Given the description of an element on the screen output the (x, y) to click on. 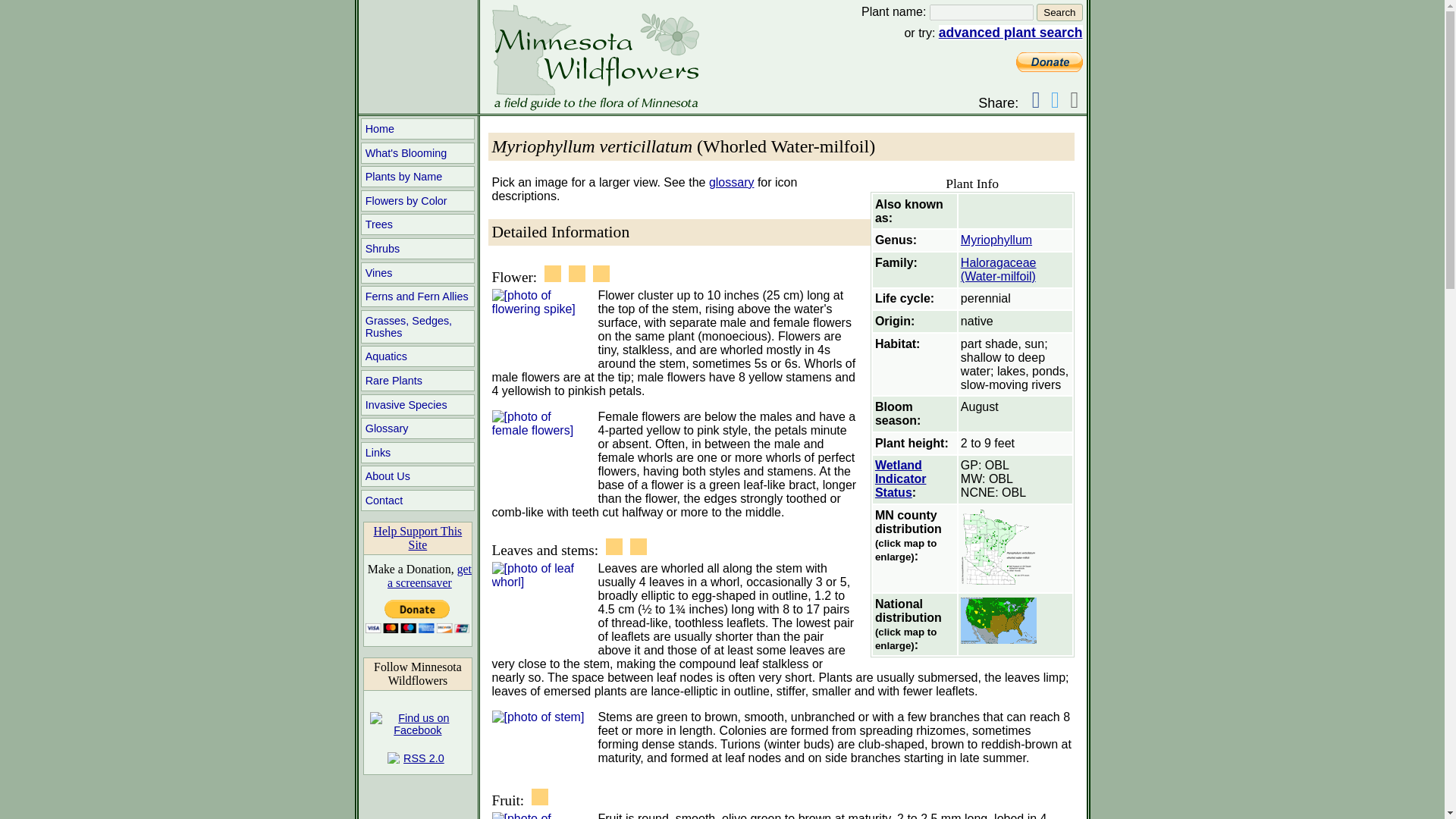
Flower shape: 4-petals (552, 273)
advanced plant search (1011, 32)
Search (1058, 12)
Cluster type: whorled (601, 273)
Leaf type: compound (638, 546)
glossary (731, 182)
Wetland Indicator Status (900, 478)
Search (1058, 12)
Fruit type: seed without plume (539, 796)
Flower shape: indistinct (577, 273)
